Given the description of an element on the screen output the (x, y) to click on. 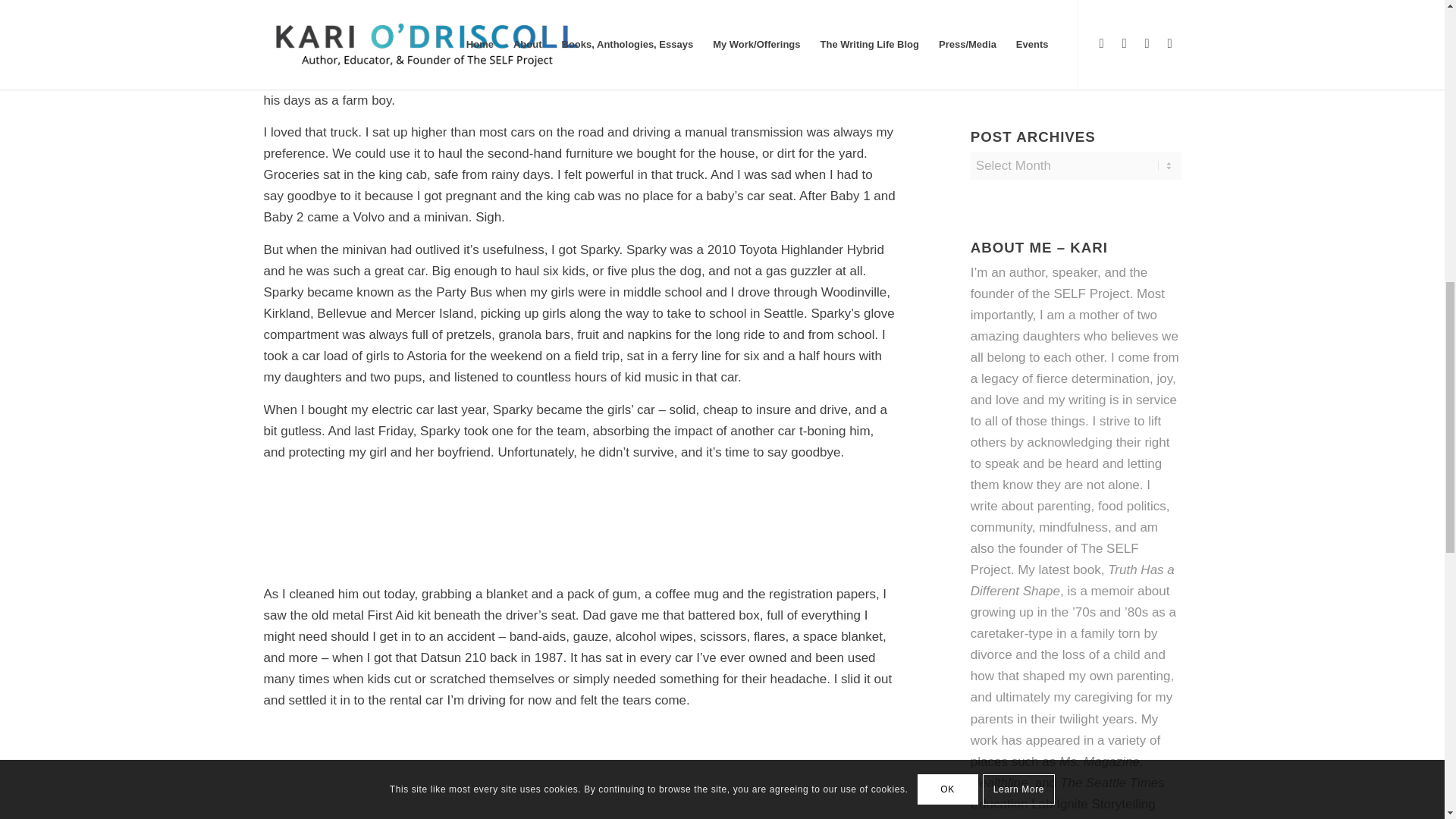
The SELF Project (1054, 559)
Subscribe (1075, 33)
